Given the description of an element on the screen output the (x, y) to click on. 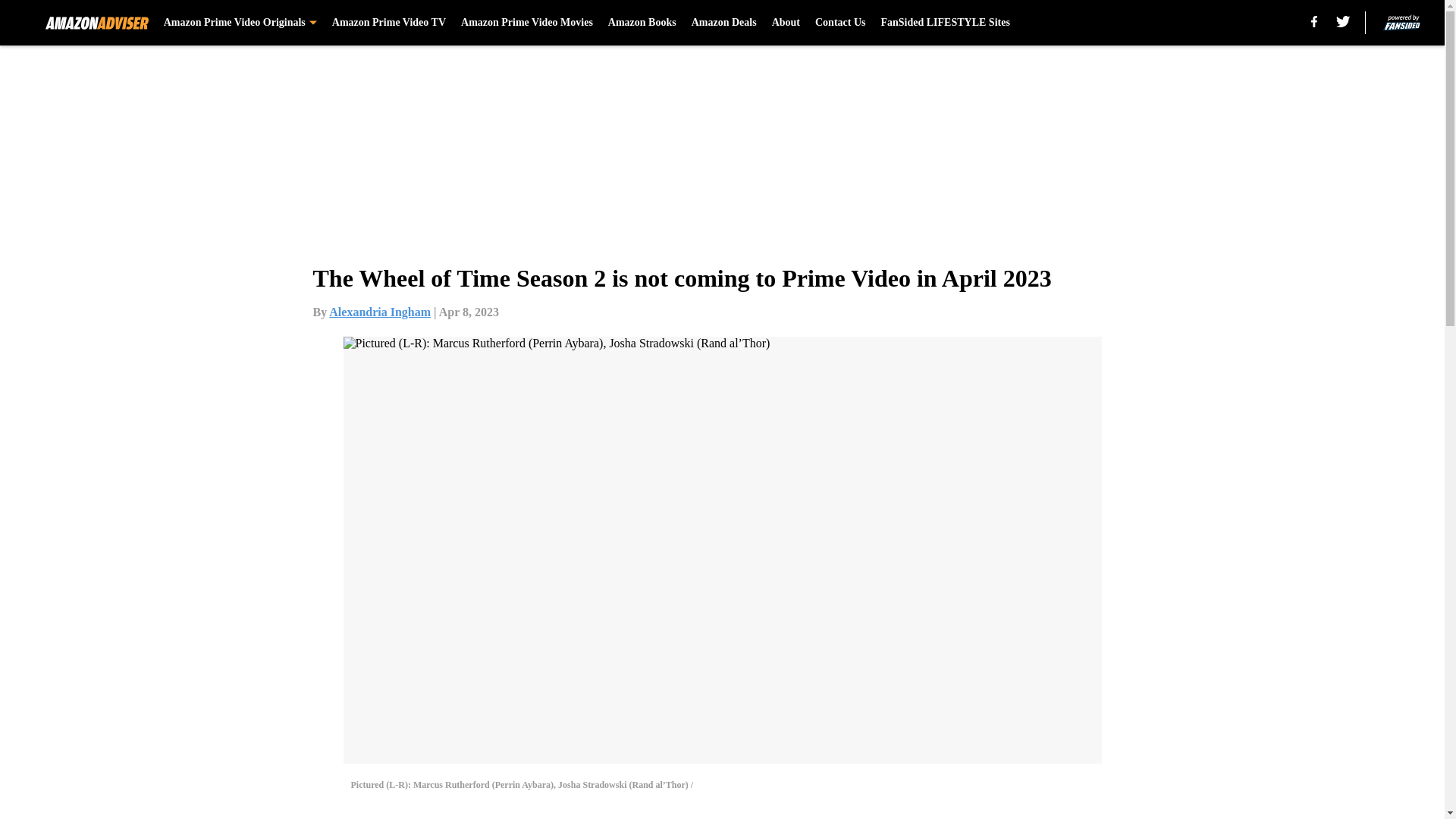
Amazon Deals (724, 22)
Alexandria Ingham (379, 311)
Amazon Prime Video TV (388, 22)
Contact Us (840, 22)
About (785, 22)
FanSided LIFESTYLE Sites (944, 22)
Amazon Books (642, 22)
Amazon Prime Video Movies (526, 22)
